Given the description of an element on the screen output the (x, y) to click on. 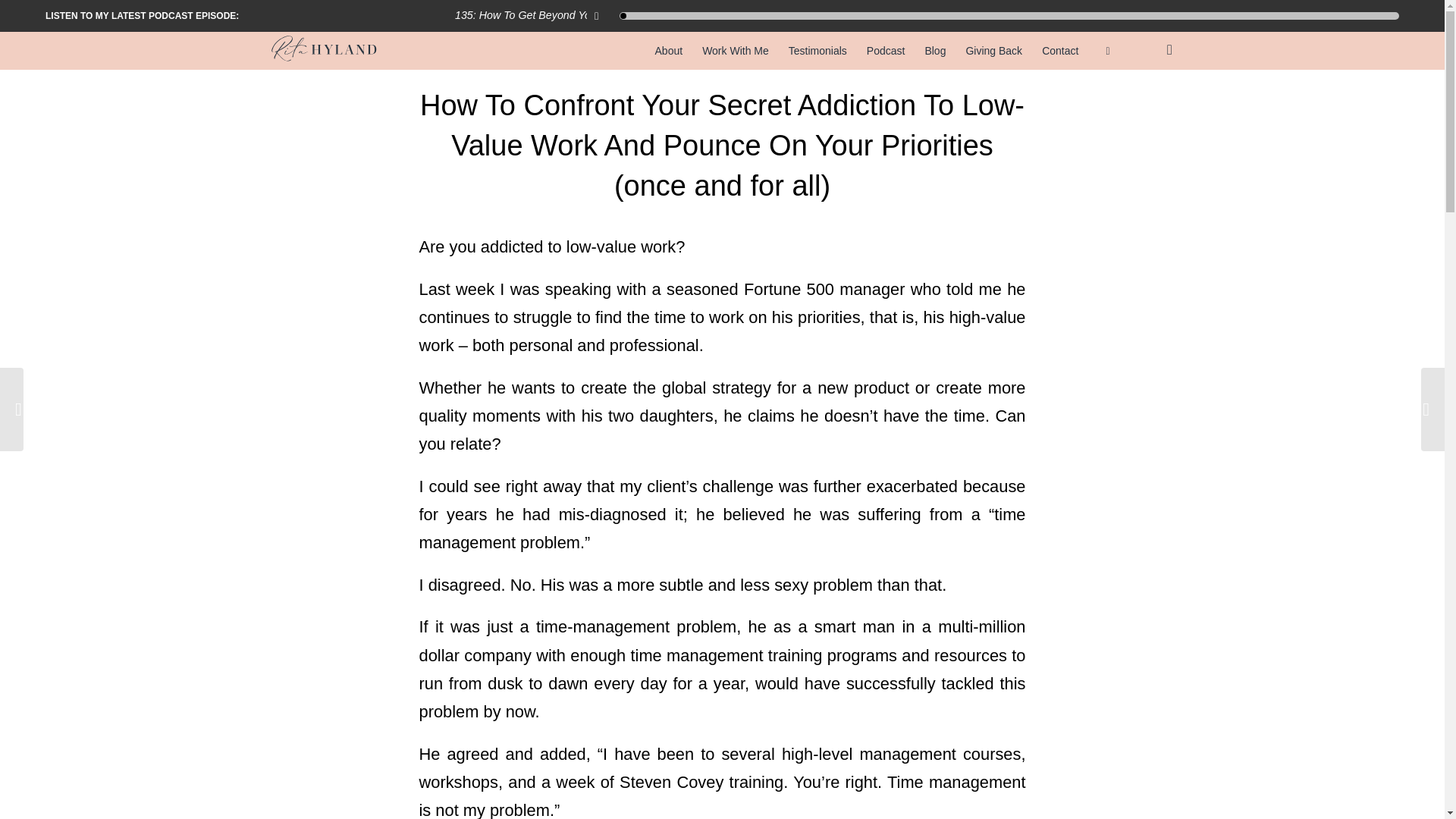
Testimonials (817, 50)
Work With Me (735, 50)
LinkedIn (1169, 49)
Giving Back (993, 50)
Podcast (886, 50)
About (669, 50)
Rita Hyland -1 line-blue-NOTAG-01 (324, 50)
Blog (934, 50)
Contact (1059, 50)
